Given the description of an element on the screen output the (x, y) to click on. 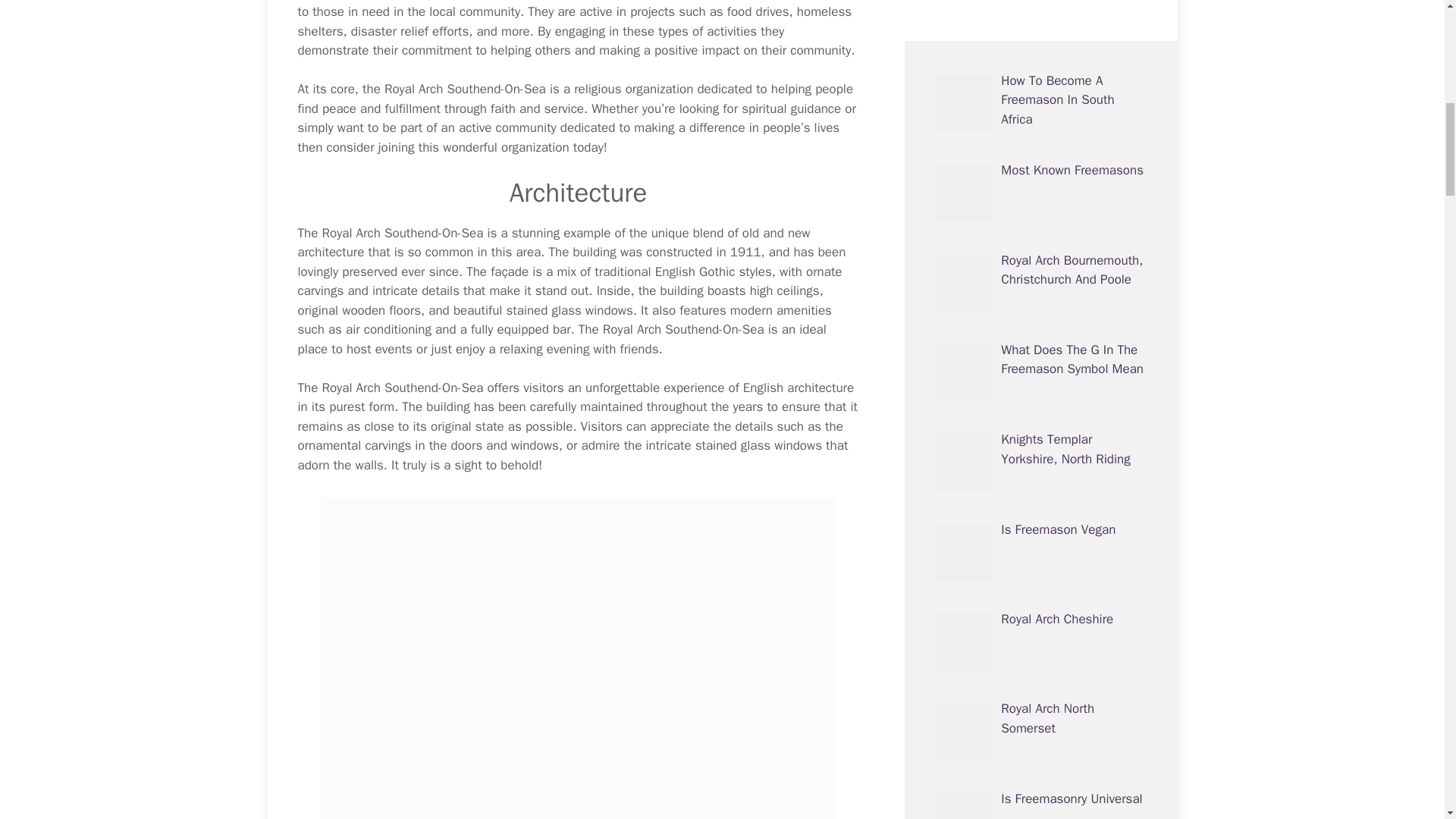
Is Freemason Vegan (1058, 68)
Scroll back to top (1406, 720)
Royal Arch Cheshire (1057, 158)
Knights Templar Yorkshire, North Riding (1065, 3)
